Given the description of an element on the screen output the (x, y) to click on. 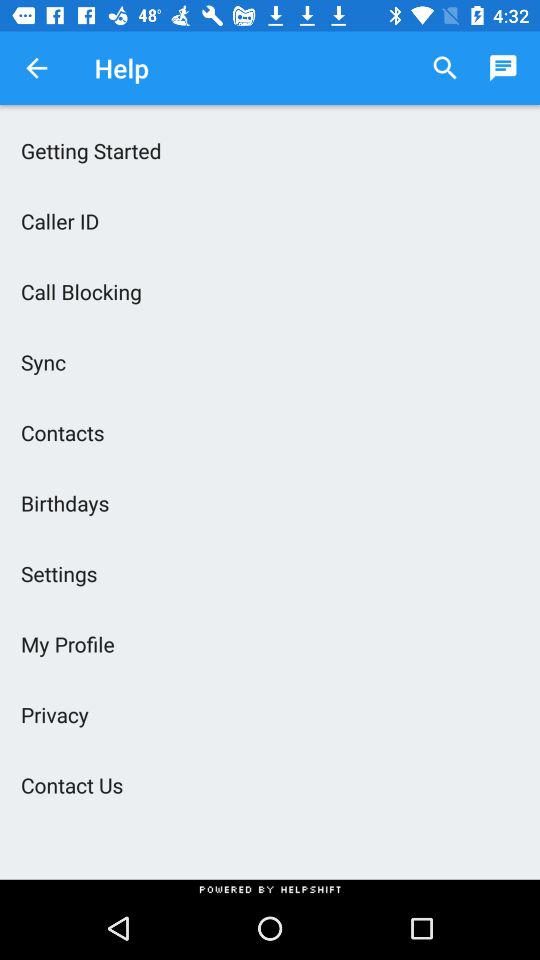
flip until the contacts icon (270, 432)
